Given the description of an element on the screen output the (x, y) to click on. 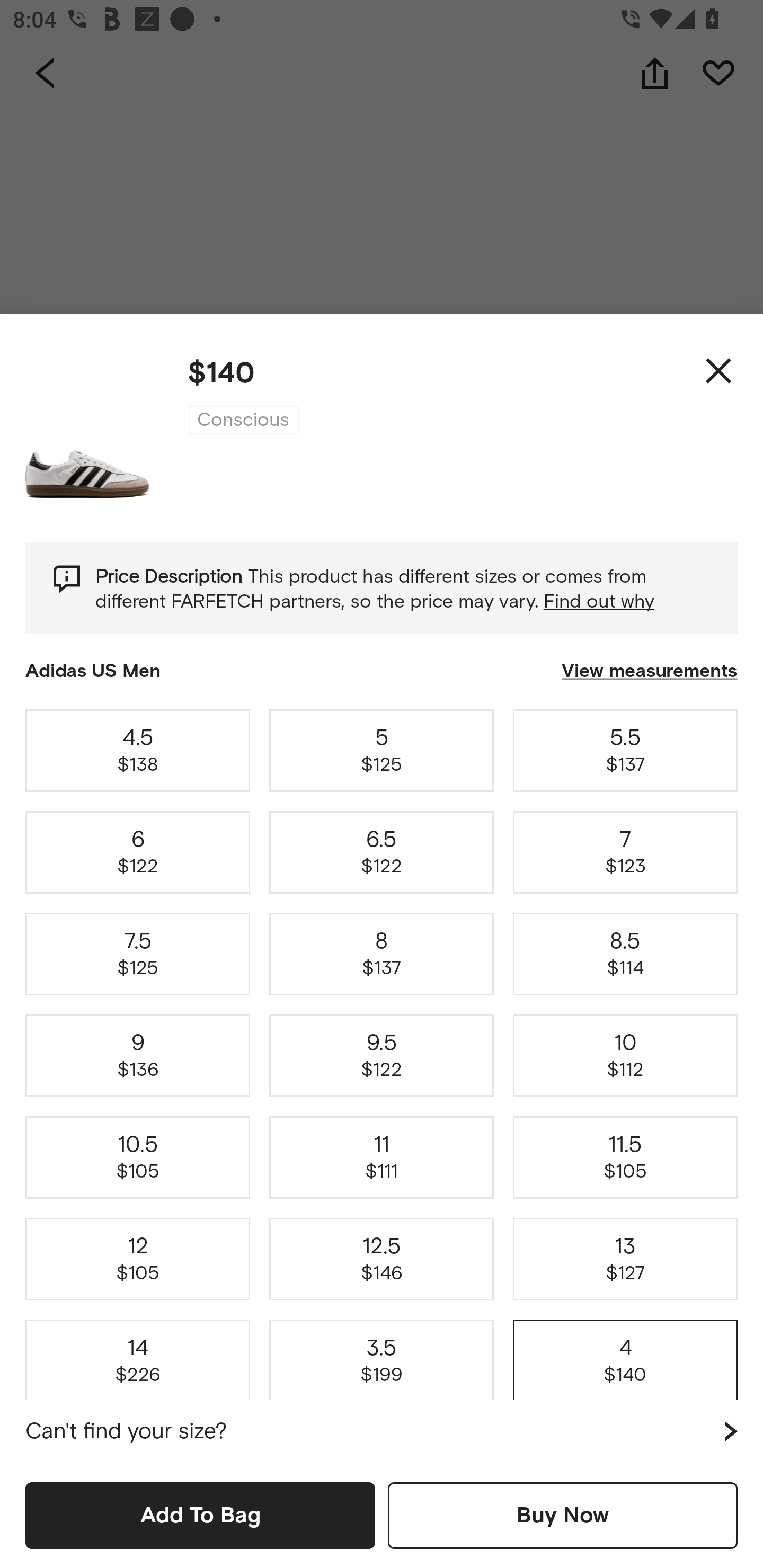
4.5 $138 (137, 749)
5 $125 (381, 749)
5.5 $137 (624, 749)
6 $122 (137, 851)
6.5 $122 (381, 851)
7 $123 (624, 851)
7.5 $125 (137, 953)
8 $137 (381, 953)
8.5 $114 (624, 953)
9 $136 (137, 1055)
9.5 $122 (381, 1055)
10 $112 (624, 1055)
10.5 $105 (137, 1157)
11 $111 (381, 1157)
11.5 $105 (624, 1157)
12 $105 (137, 1258)
12.5 $146 (381, 1258)
13 $127 (624, 1258)
14 $226 (137, 1356)
3.5 $199 (381, 1356)
4 $140 (624, 1356)
Can't find your size? (381, 1431)
Add To Bag (200, 1515)
Buy Now (562, 1515)
